Given the description of an element on the screen output the (x, y) to click on. 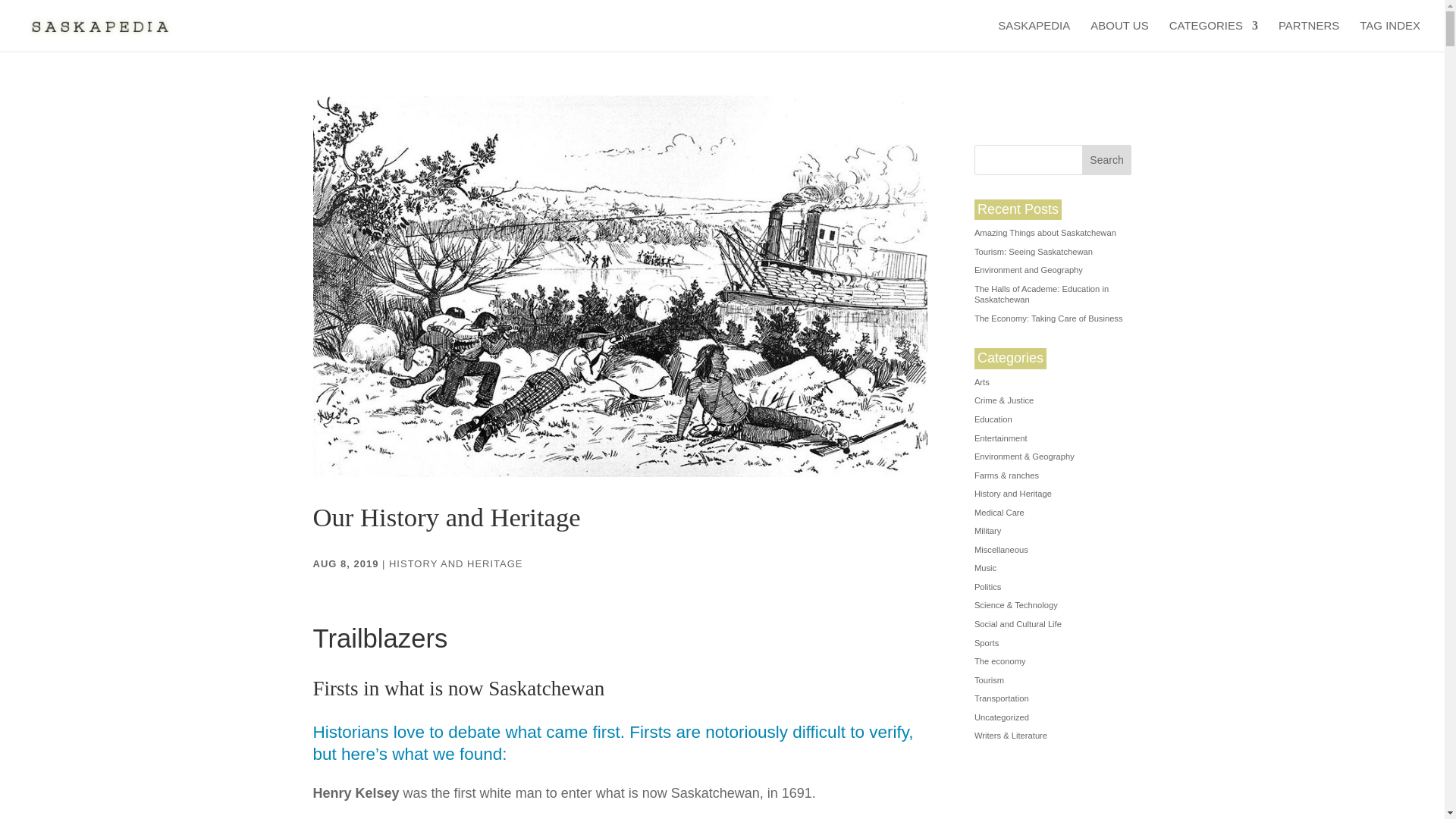
CATEGORIES (1213, 35)
Search (1106, 159)
TAG INDEX (1390, 35)
PARTNERS (1308, 35)
SASKAPEDIA (1033, 35)
ABOUT US (1119, 35)
